Given the description of an element on the screen output the (x, y) to click on. 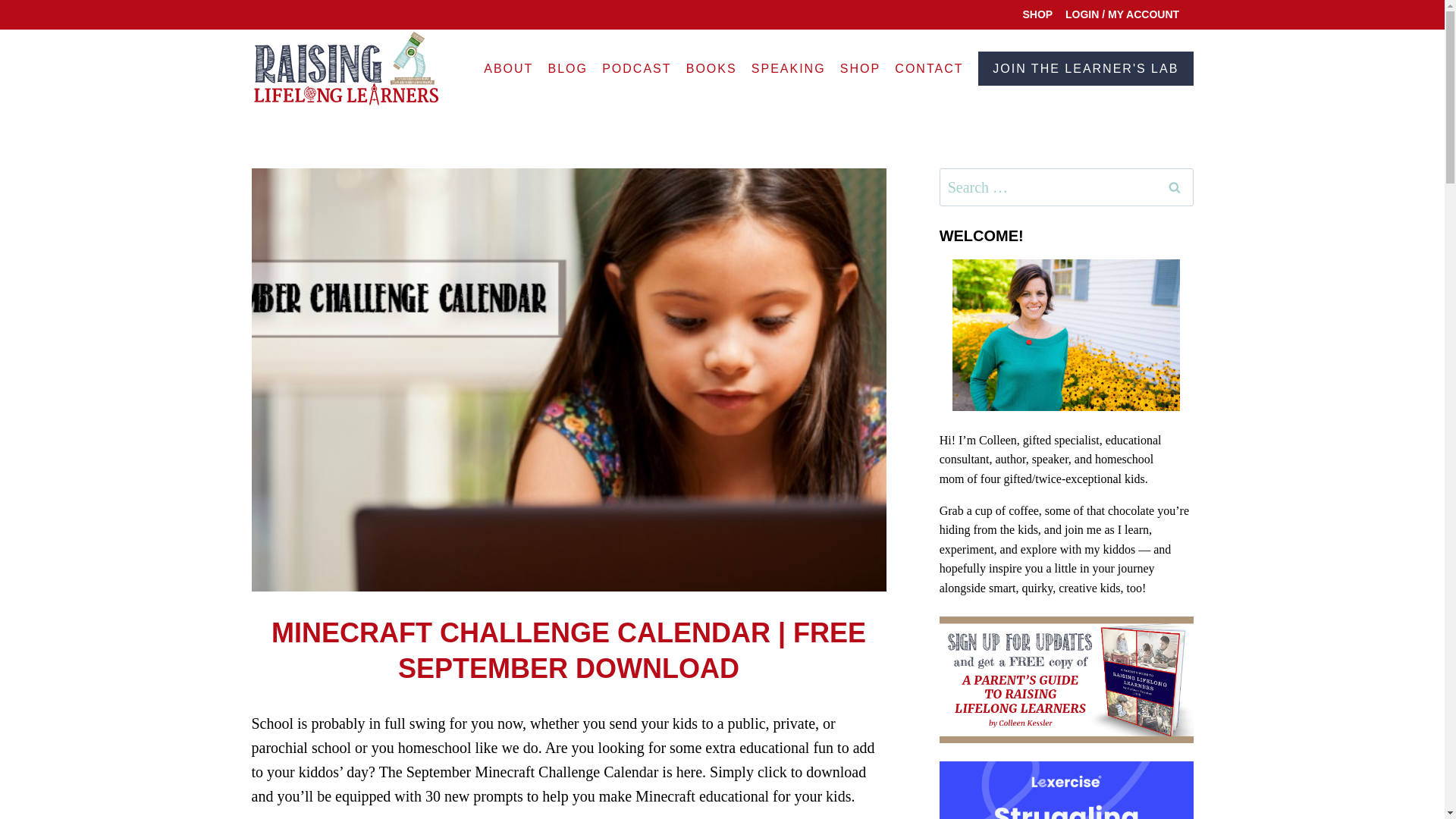
SHOP (860, 68)
CONTACT (929, 68)
Search (1174, 187)
homeschool mom (1046, 468)
Search (1174, 187)
BLOG (567, 68)
SPEAKING (788, 68)
Search (1174, 187)
PODCAST (637, 68)
JOIN THE LEARNER'S LAB (1085, 68)
ABOUT (508, 68)
BOOKS (711, 68)
author (1009, 459)
speaker (1050, 459)
SHOP (1037, 14)
